Given the description of an element on the screen output the (x, y) to click on. 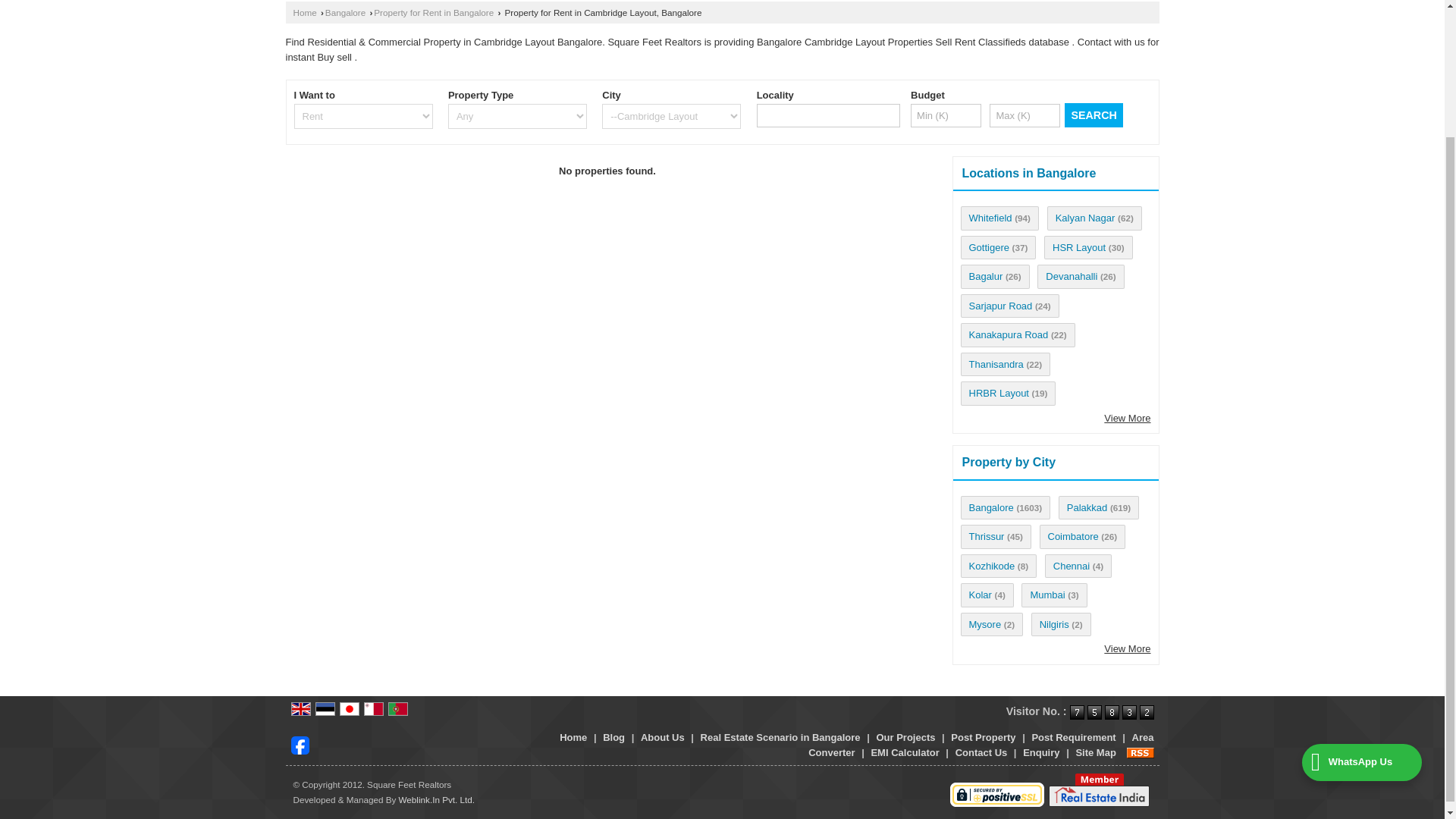
SEARCH (1093, 115)
